Given the description of an element on the screen output the (x, y) to click on. 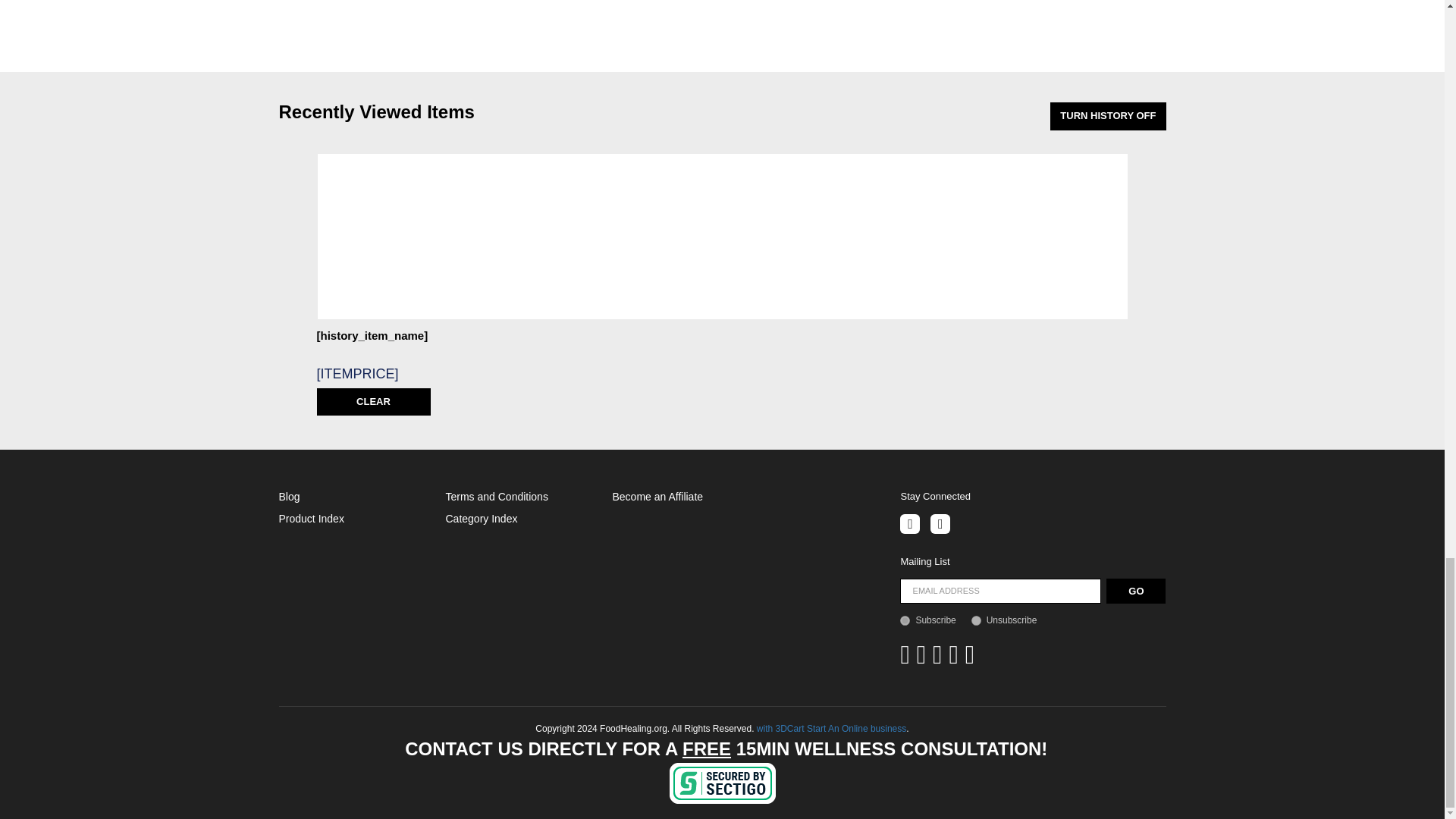
Follow Us on Instagram (940, 523)
1 (904, 620)
Like Us on Facebook (909, 523)
0 (976, 620)
